Given the description of an element on the screen output the (x, y) to click on. 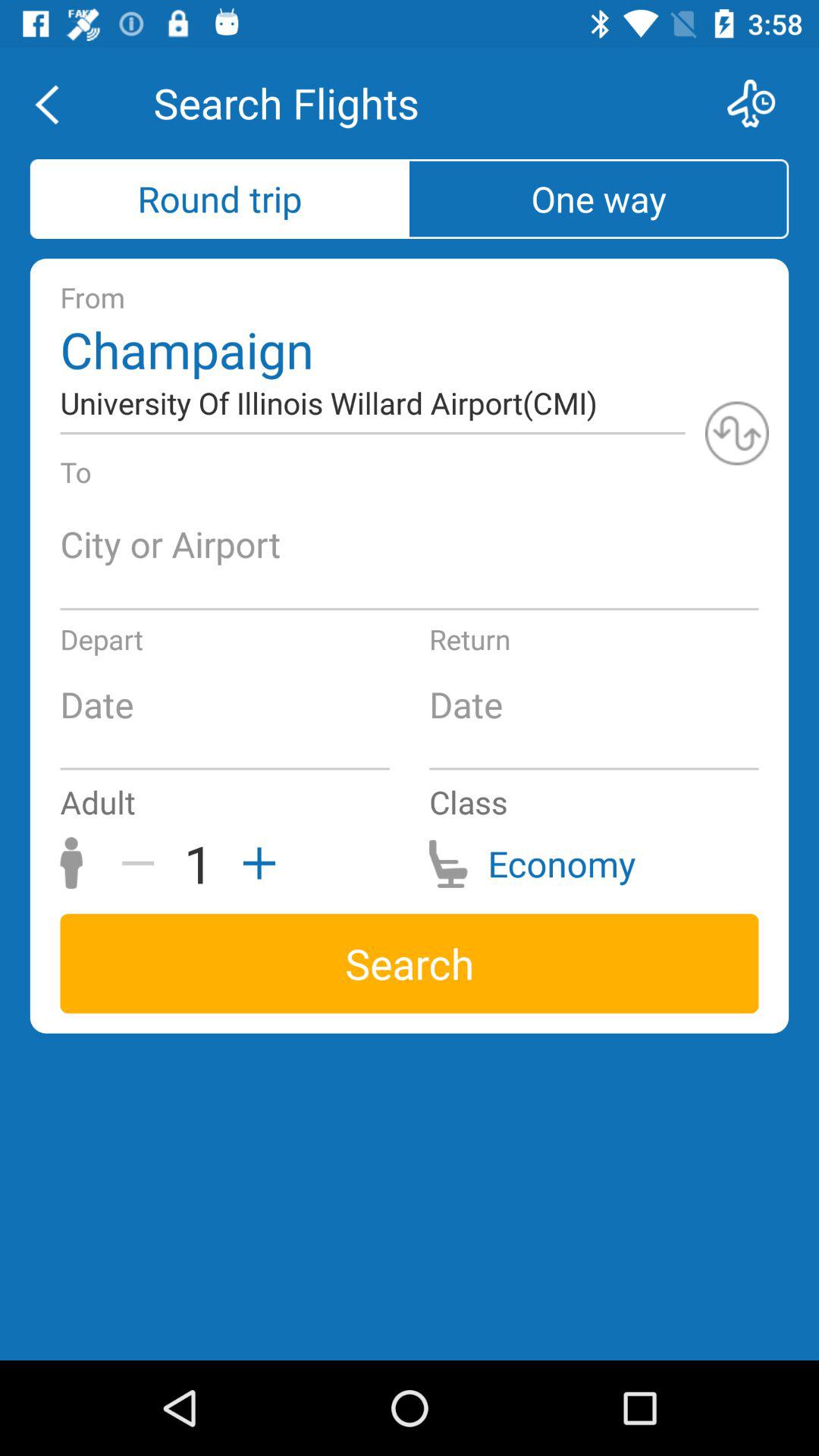
switch on flight timings (761, 102)
